Given the description of an element on the screen output the (x, y) to click on. 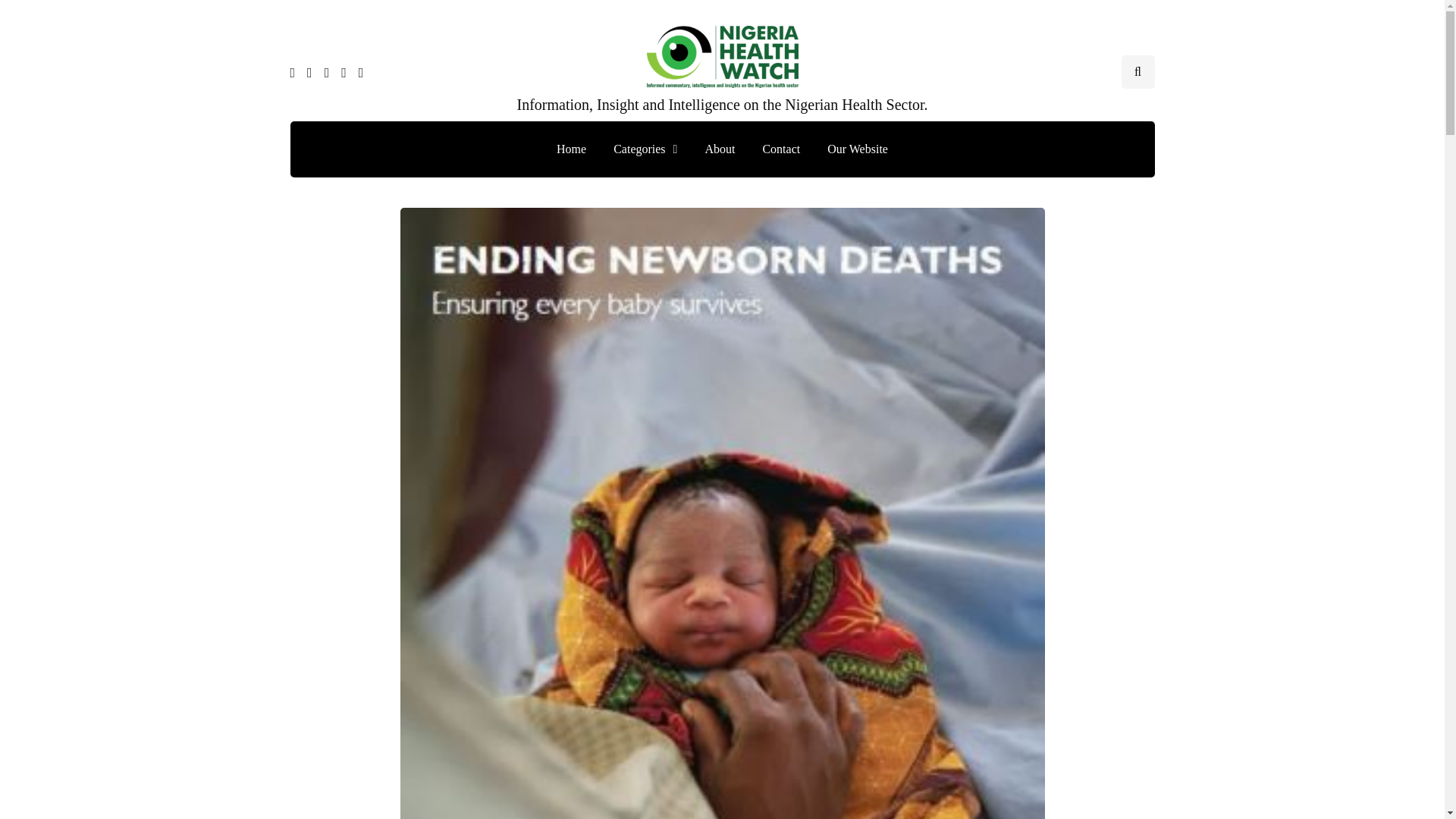
Home (571, 149)
Our Website (857, 149)
About (719, 149)
Contact (780, 149)
Categories (644, 149)
